Given the description of an element on the screen output the (x, y) to click on. 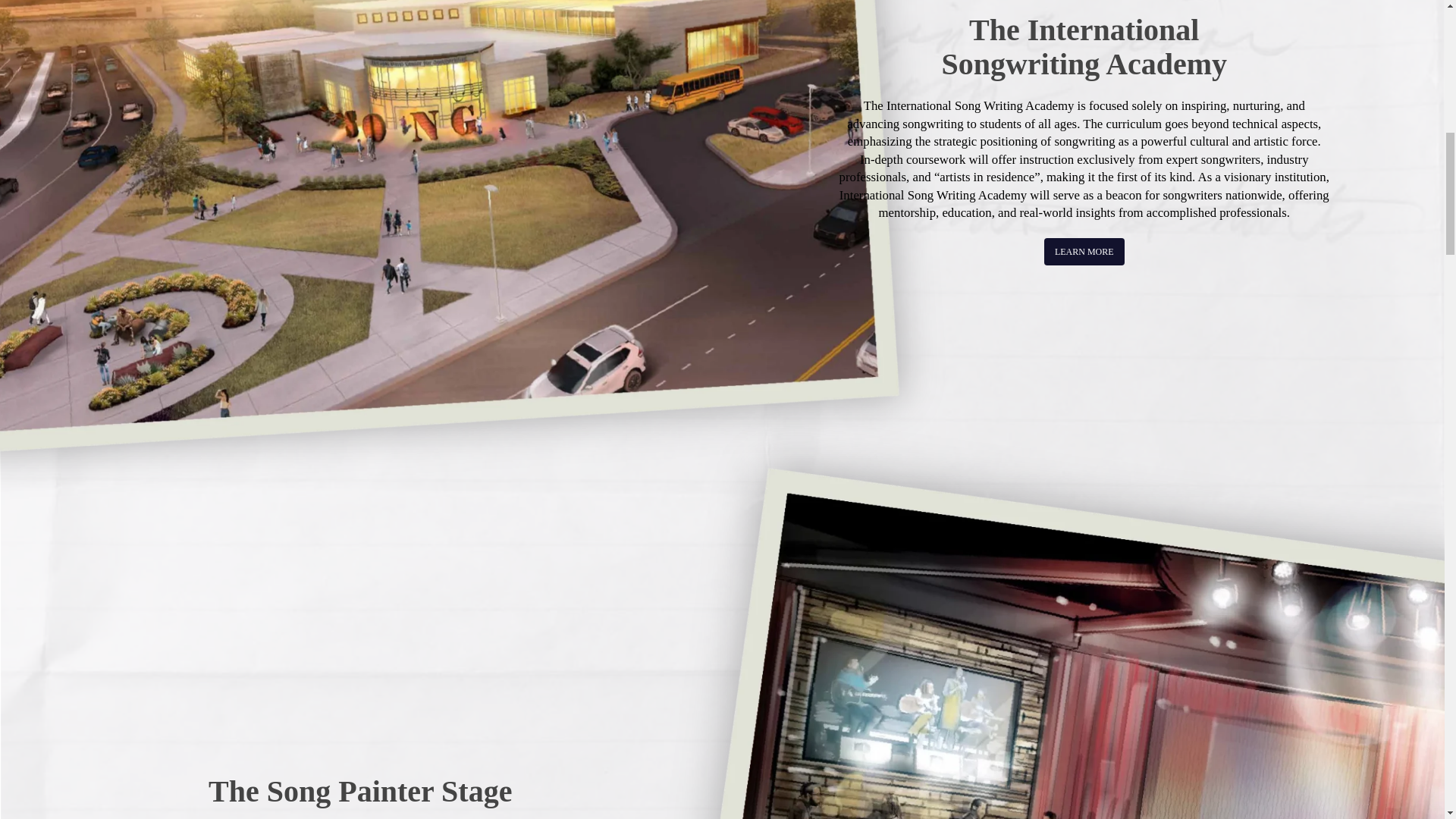
LEARN MORE (1083, 251)
